Given the description of an element on the screen output the (x, y) to click on. 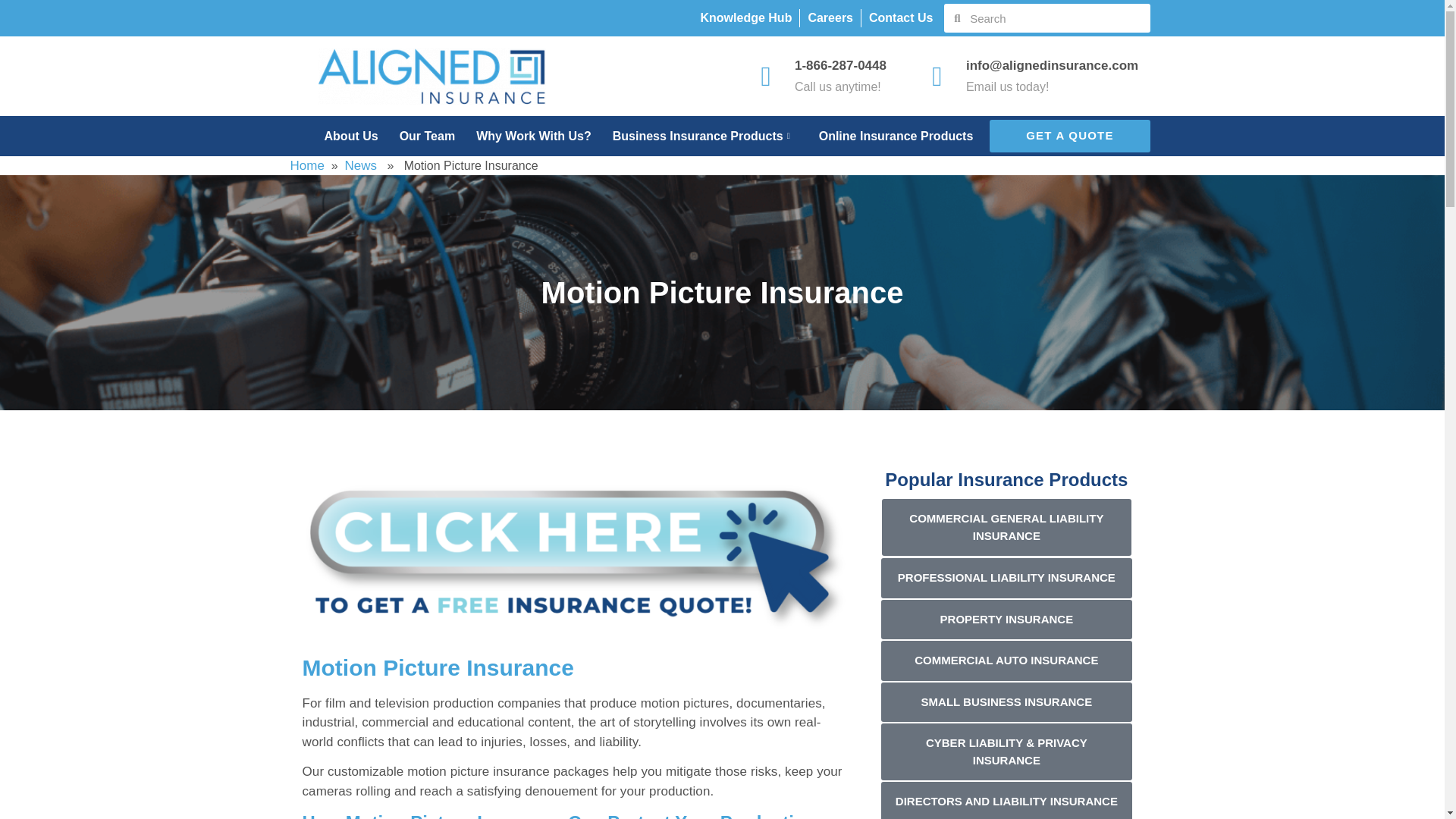
Our Team (416, 135)
GET A QUOTE (1070, 135)
About Us (340, 135)
Online Insurance Products (885, 135)
Business Insurance Products (694, 135)
Careers (830, 18)
1-866-287-0448 (840, 65)
Knowledge Hub (746, 18)
Contact Us (901, 18)
Final-Aligned-Logo-1 (432, 75)
Why Work With Us? (522, 135)
